Given the description of an element on the screen output the (x, y) to click on. 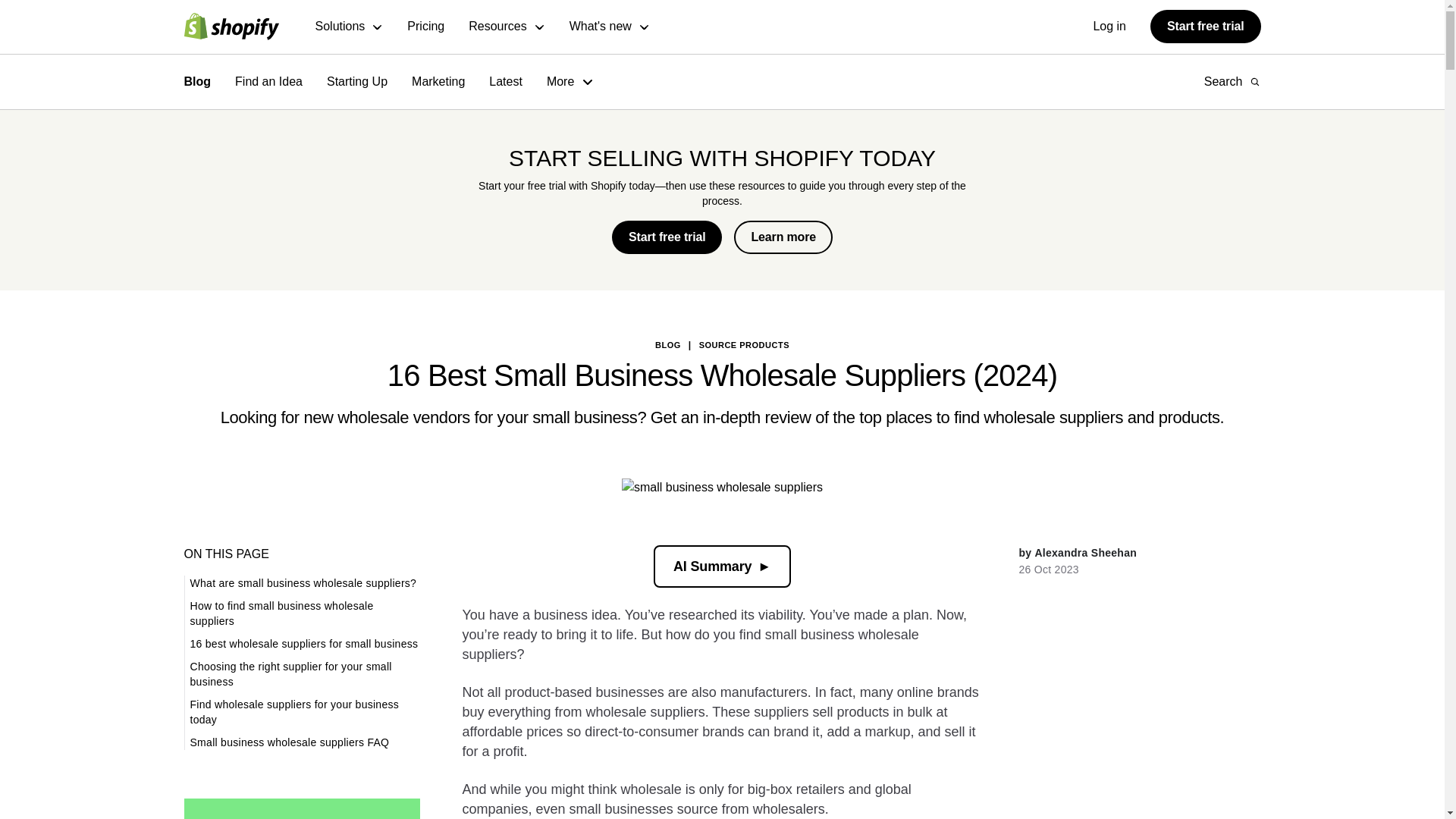
Pricing (425, 27)
Solutions (349, 27)
Resources (506, 27)
